Given the description of an element on the screen output the (x, y) to click on. 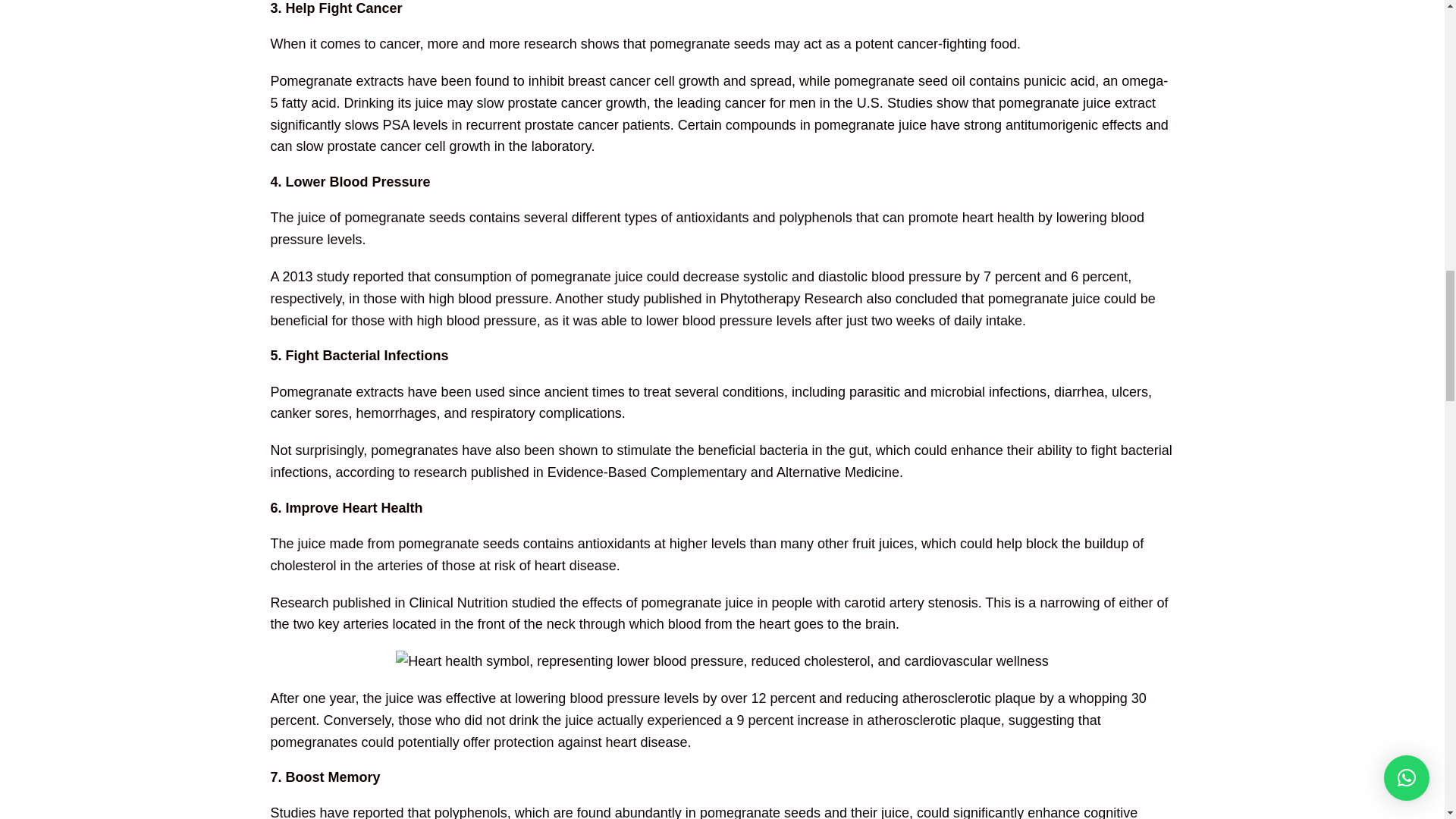
enhance cognitive function (703, 812)
cancer-fighting food (956, 43)
lowering blood pressure (705, 228)
stimulate (643, 450)
published (362, 602)
lower (662, 320)
decrease (710, 276)
